Given the description of an element on the screen output the (x, y) to click on. 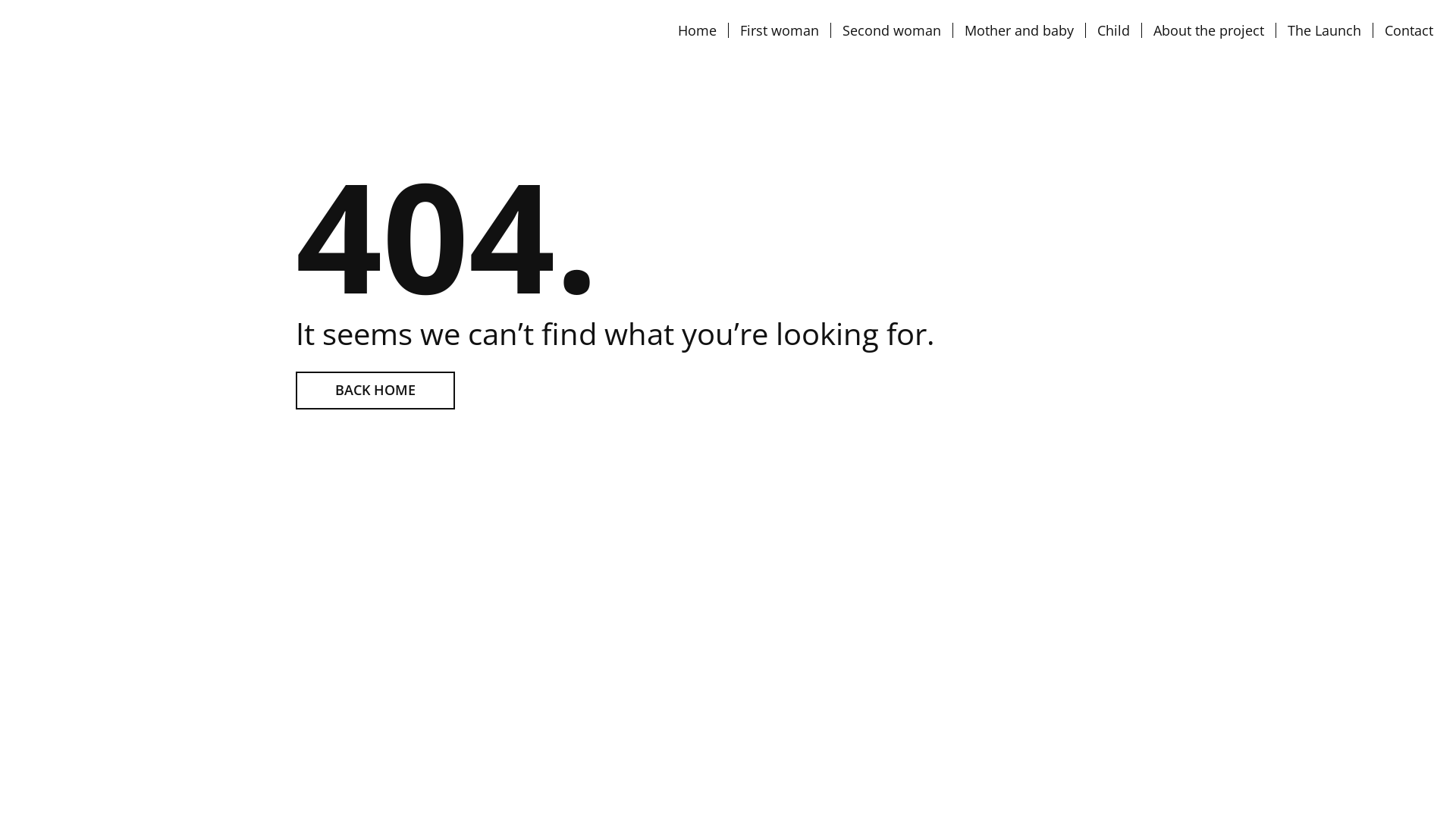
Second woman Element type: text (891, 29)
Contact Element type: text (1408, 29)
BACK HOME Element type: text (375, 390)
Child Element type: text (1113, 29)
First woman Element type: text (779, 29)
Mother and baby Element type: text (1018, 29)
Home Element type: text (696, 29)
The Launch Element type: text (1324, 29)
About the project Element type: text (1208, 29)
